Given the description of an element on the screen output the (x, y) to click on. 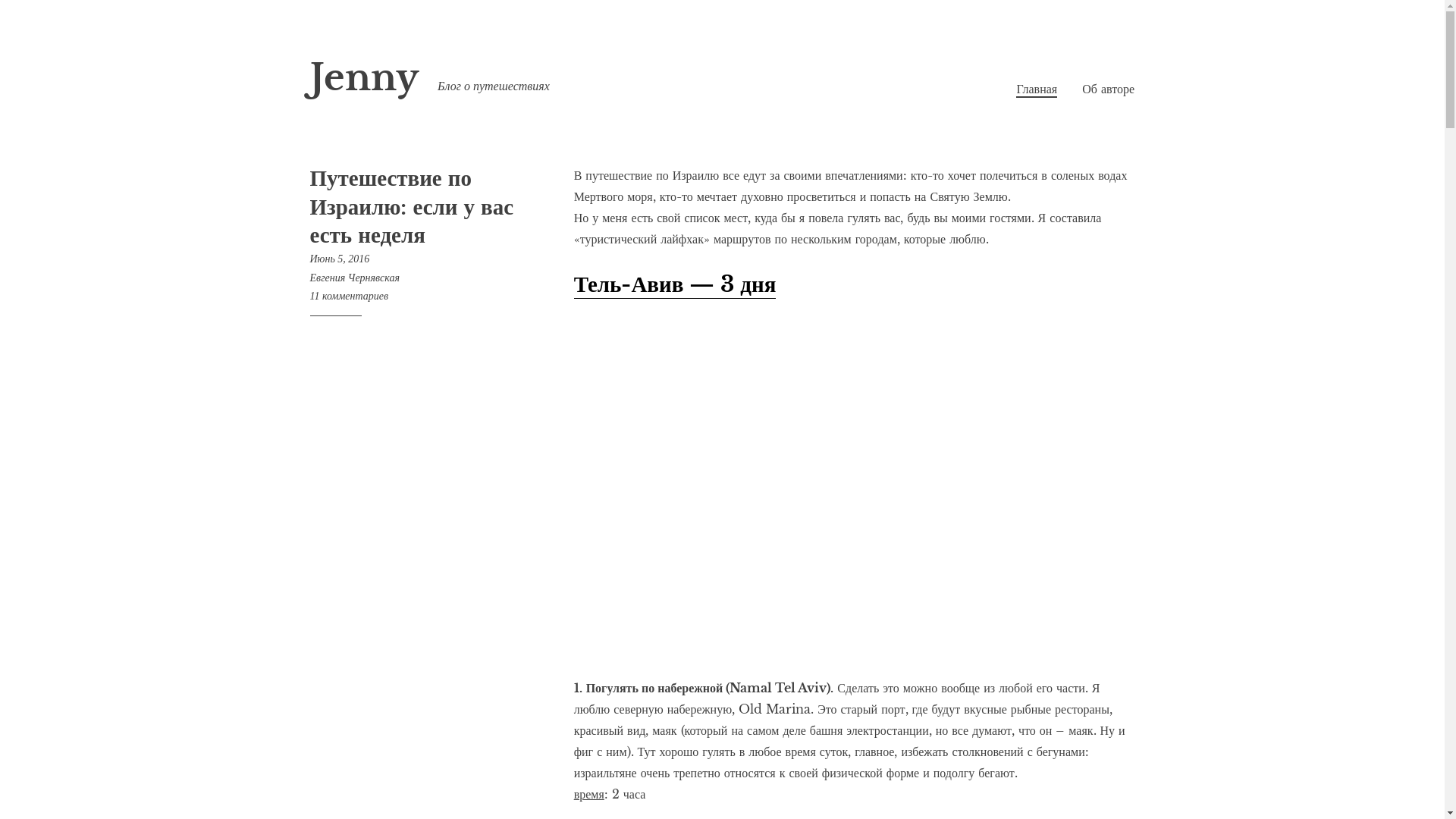
Jenny Element type: text (363, 77)
